Given the description of an element on the screen output the (x, y) to click on. 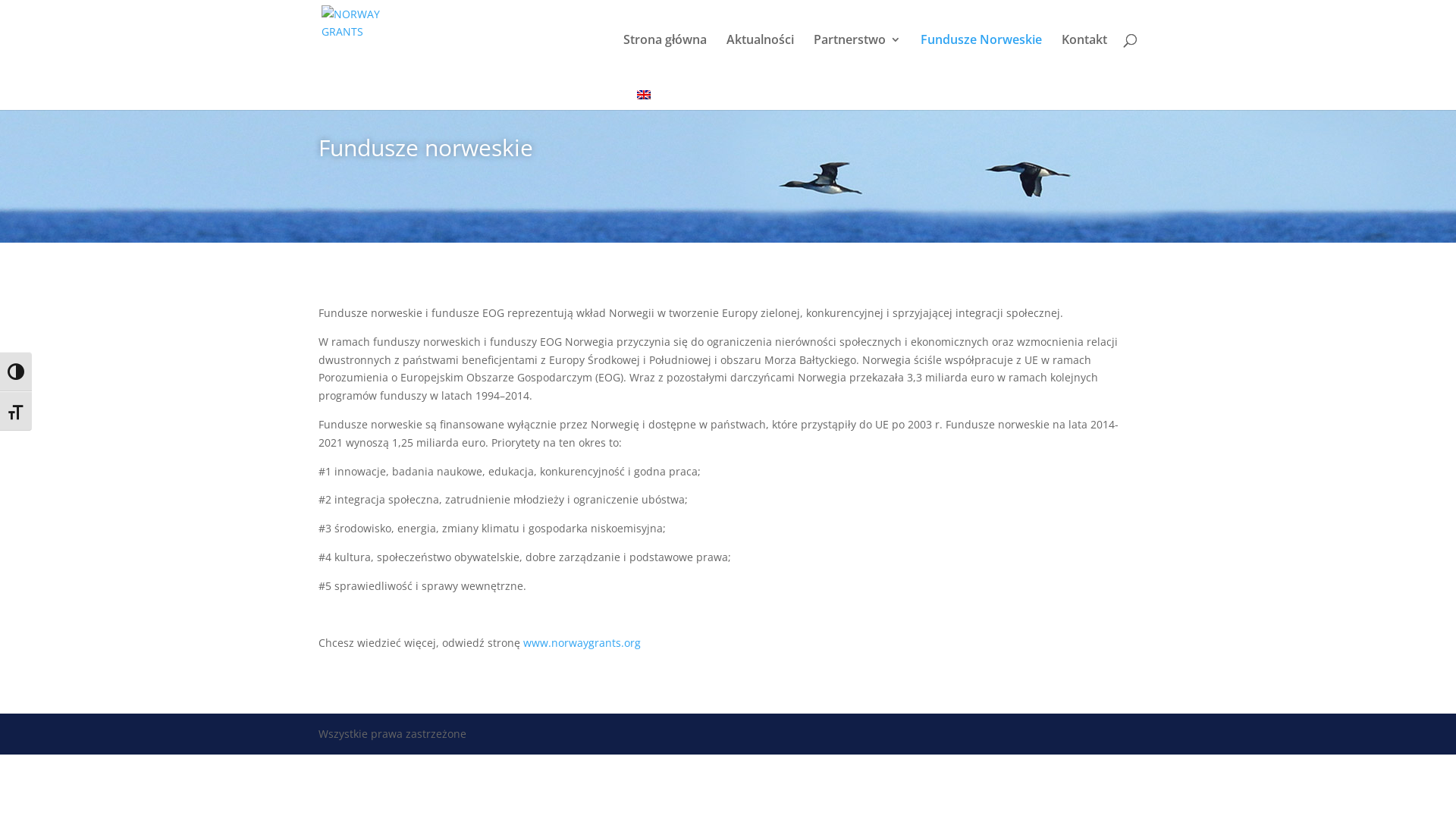
Fundusze Norweskie Element type: text (980, 56)
Kontakt Element type: text (1084, 56)
Toggle High Contrast Element type: text (15, 371)
Toggle Font size Element type: text (15, 410)
Partnerstwo Element type: text (856, 56)
www.norwaygrants.org Element type: text (581, 642)
